Given the description of an element on the screen output the (x, y) to click on. 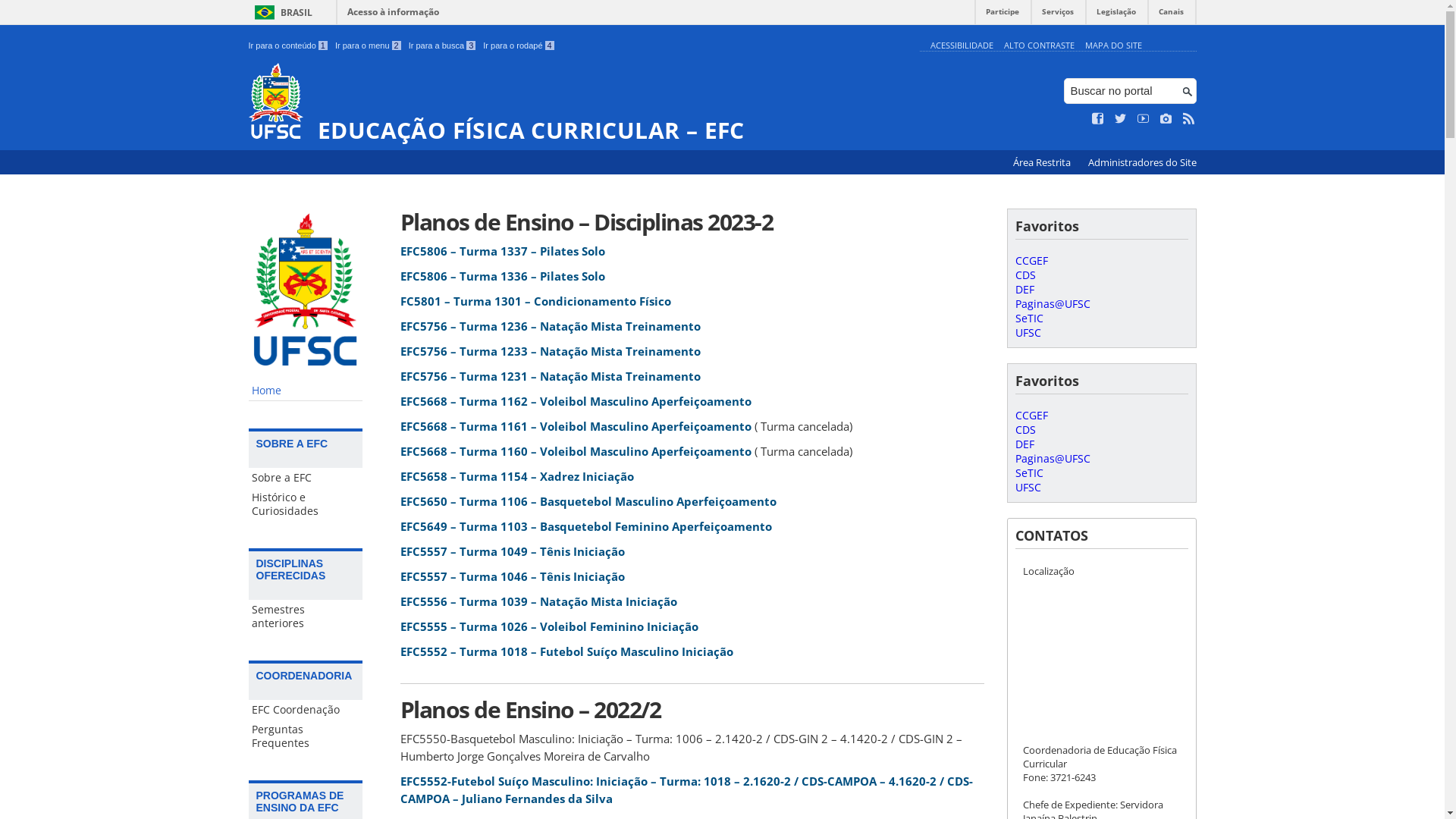
CCGEF Element type: text (1030, 414)
ACESSIBILIDADE Element type: text (960, 44)
Curta no Facebook Element type: hover (1098, 118)
Veja no Instagram Element type: hover (1166, 118)
Semestres anteriores Element type: text (305, 616)
CCGEF Element type: text (1030, 260)
BRASIL Element type: text (280, 12)
Siga no Twitter Element type: hover (1120, 118)
Ir para o menu 2 Element type: text (368, 45)
CDS Element type: text (1024, 274)
Sobre a EFC Element type: text (305, 477)
MAPA DO SITE Element type: text (1112, 44)
SeTIC Element type: text (1028, 472)
DEF Element type: text (1023, 289)
ALTO CONTRASTE Element type: text (1039, 44)
Participe Element type: text (1002, 15)
CDS Element type: text (1024, 429)
Ir para a busca 3 Element type: text (442, 45)
UFSC Element type: text (1027, 332)
Canais Element type: text (1171, 15)
Perguntas Frequentes Element type: text (305, 736)
Home Element type: text (305, 390)
DEF Element type: text (1023, 443)
SeTIC Element type: text (1028, 317)
Paginas@UFSC Element type: text (1051, 303)
Paginas@UFSC Element type: text (1051, 458)
UFSC Element type: text (1027, 487)
Administradores do Site Element type: text (1141, 162)
